Given the description of an element on the screen output the (x, y) to click on. 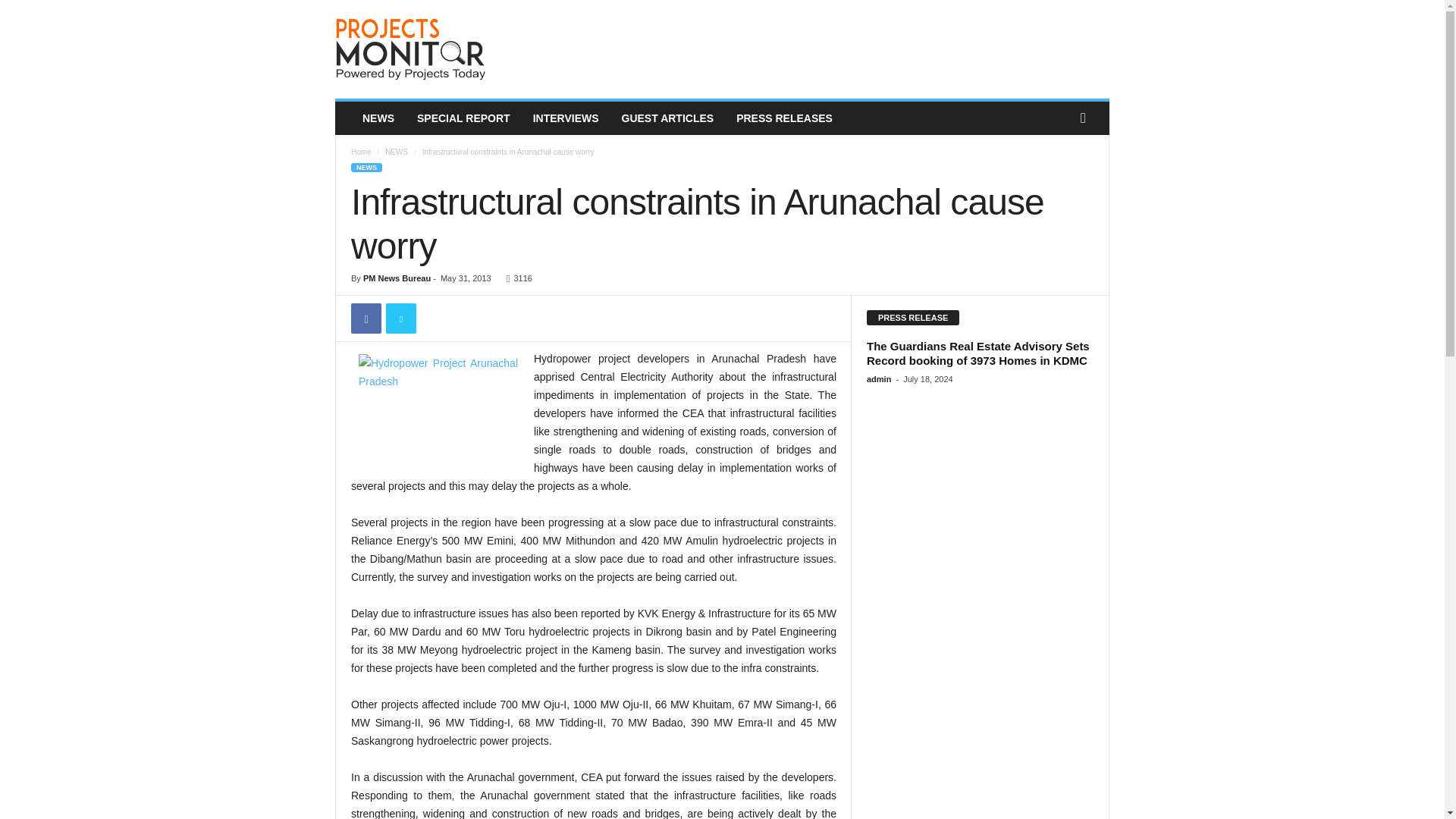
GUEST ARTICLES (667, 118)
INTERVIEWS (565, 118)
View all posts in NEWS (396, 152)
NEWS (396, 152)
PM News Bureau (396, 277)
PRESS RELEASES (784, 118)
NEWS (365, 166)
NEWS (378, 118)
India's first News Website on Projects Investment (437, 48)
Home (360, 152)
SPECIAL REPORT (463, 118)
